Given the description of an element on the screen output the (x, y) to click on. 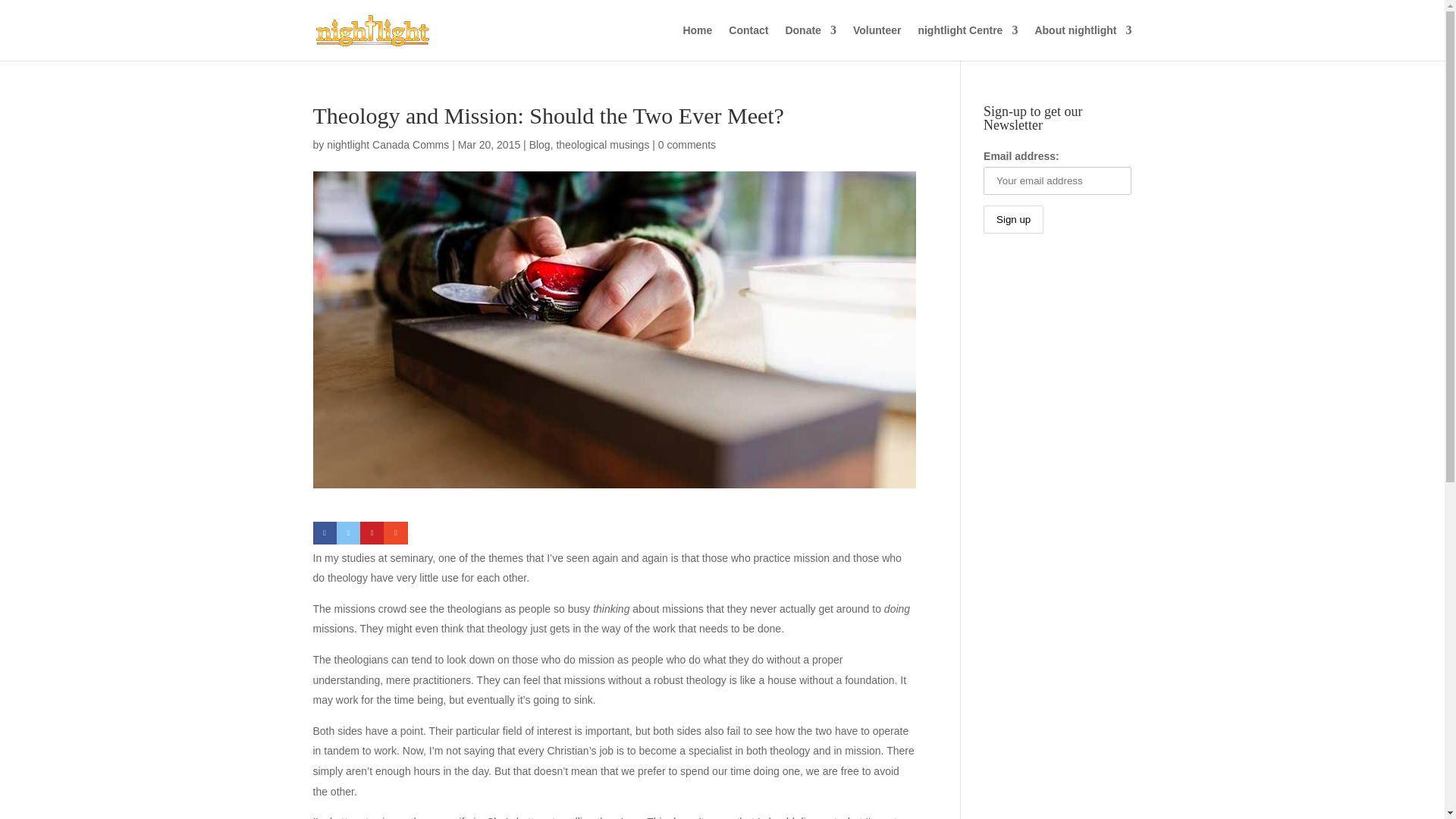
Donate (809, 42)
Sign up (1013, 219)
Twitter (347, 532)
nightlight Centre (967, 42)
Pinterest (371, 532)
Posts by nightlight Canada Comms (387, 144)
theological musings (602, 144)
Contact (748, 42)
Share (324, 532)
Mail (395, 532)
Blog (539, 144)
Volunteer (877, 42)
Sign up (1013, 219)
About nightlight (1082, 42)
nightlight Canada Comms (387, 144)
